Given the description of an element on the screen output the (x, y) to click on. 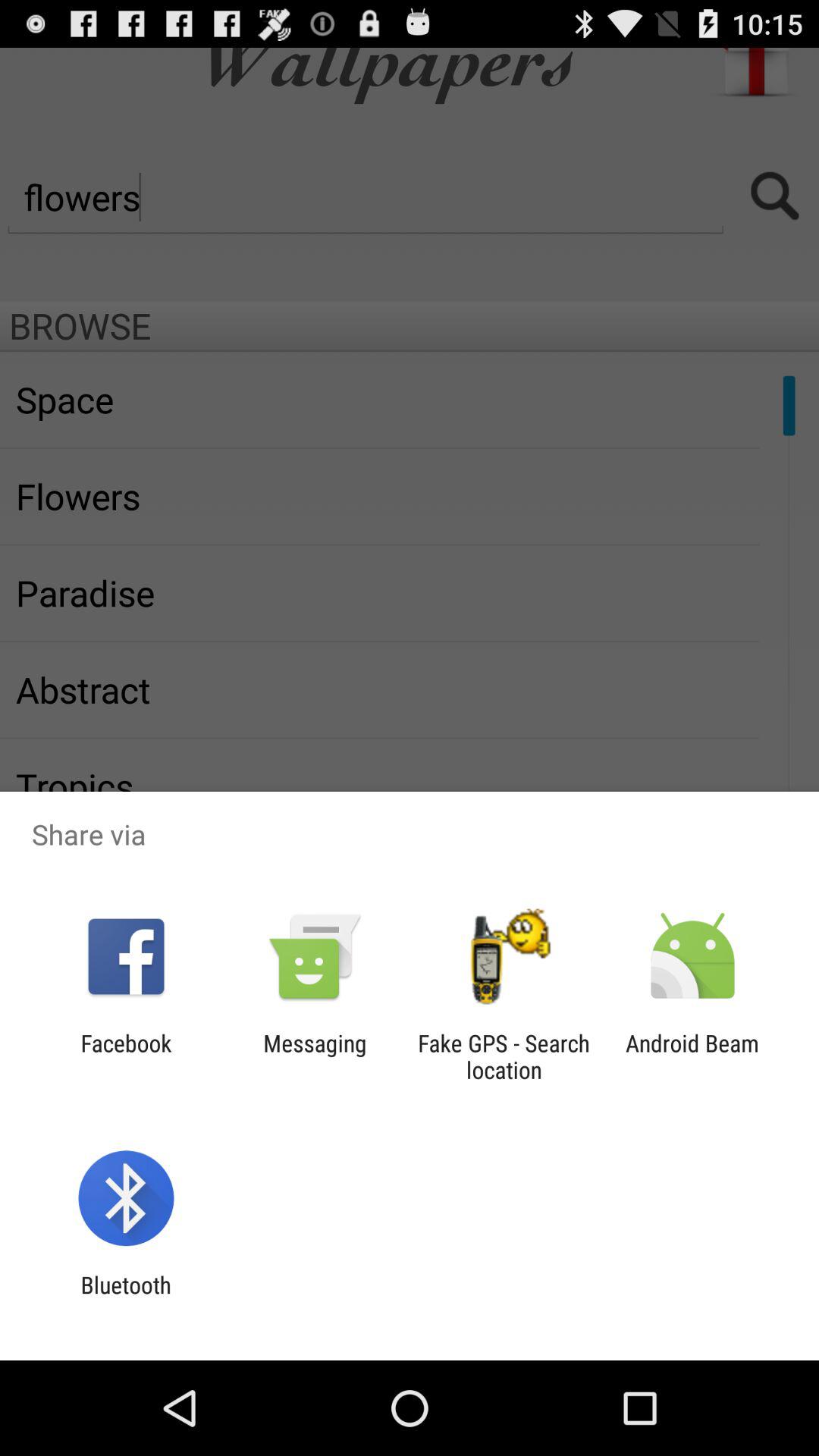
scroll until android beam (692, 1056)
